Given the description of an element on the screen output the (x, y) to click on. 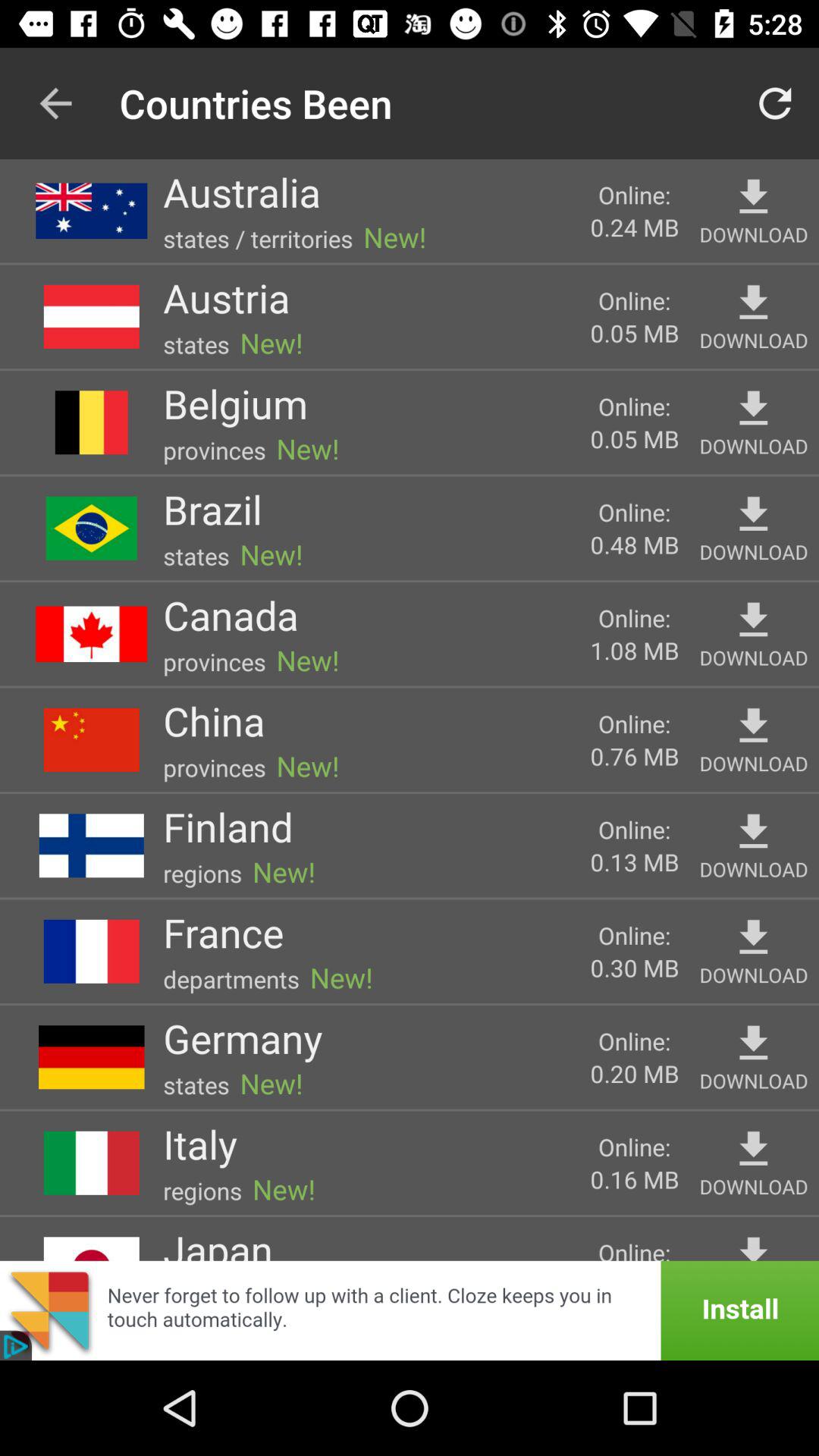
turn off item below france icon (231, 978)
